Given the description of an element on the screen output the (x, y) to click on. 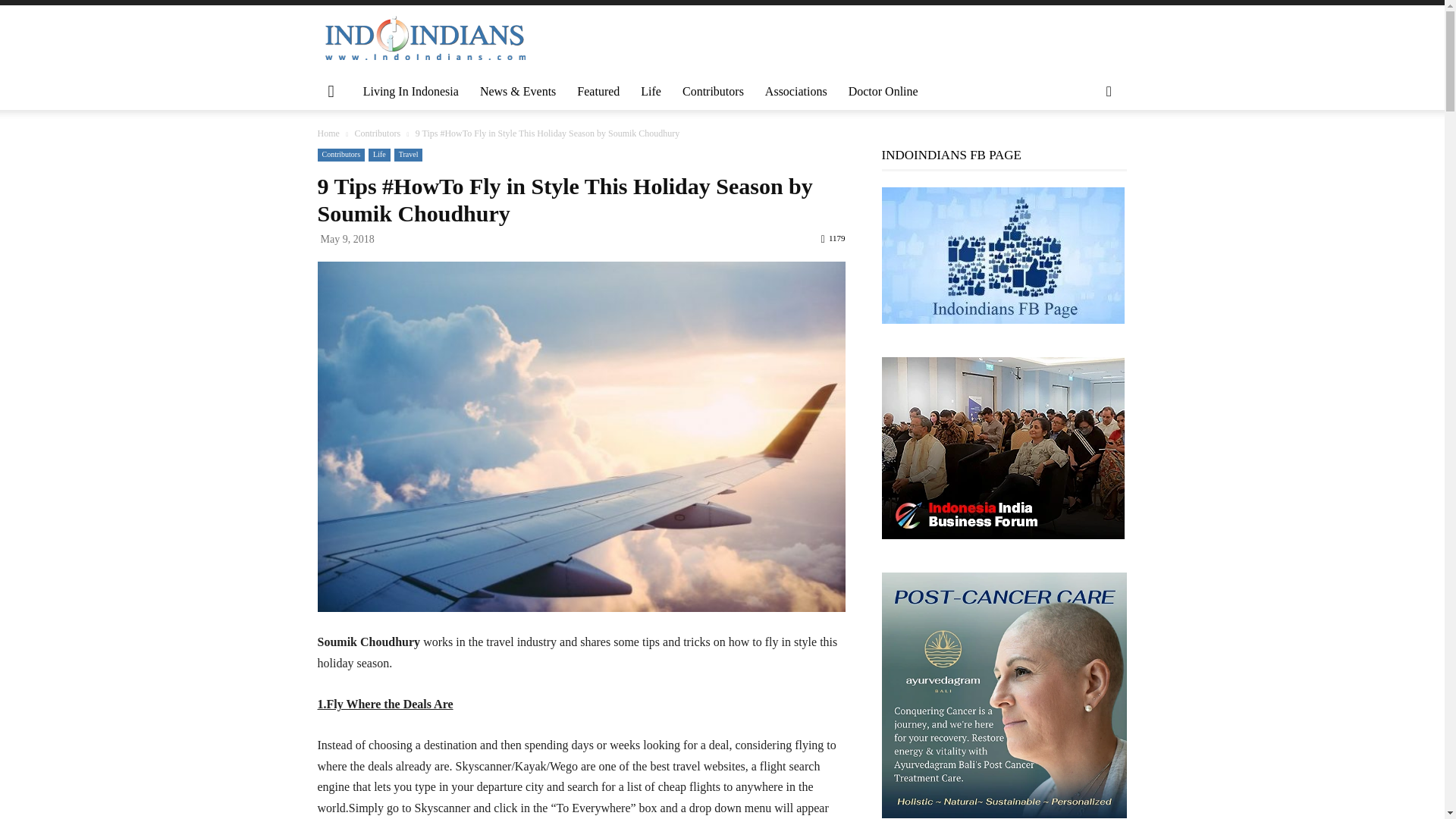
LOGO INDOINDIANS (424, 39)
View all posts in Contributors (376, 132)
